Given the description of an element on the screen output the (x, y) to click on. 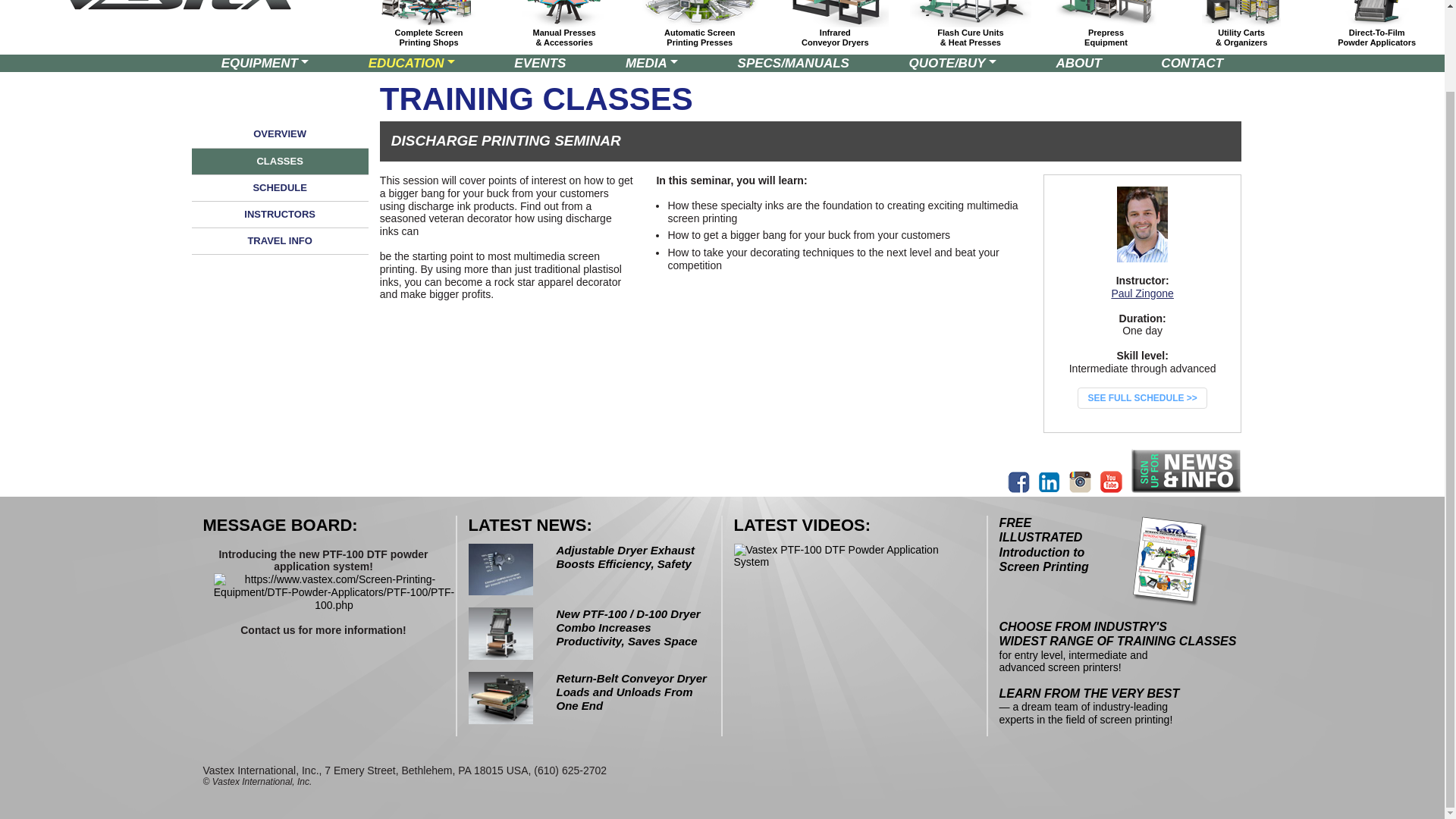
EQUIPMENT (1105, 36)
